Given the description of an element on the screen output the (x, y) to click on. 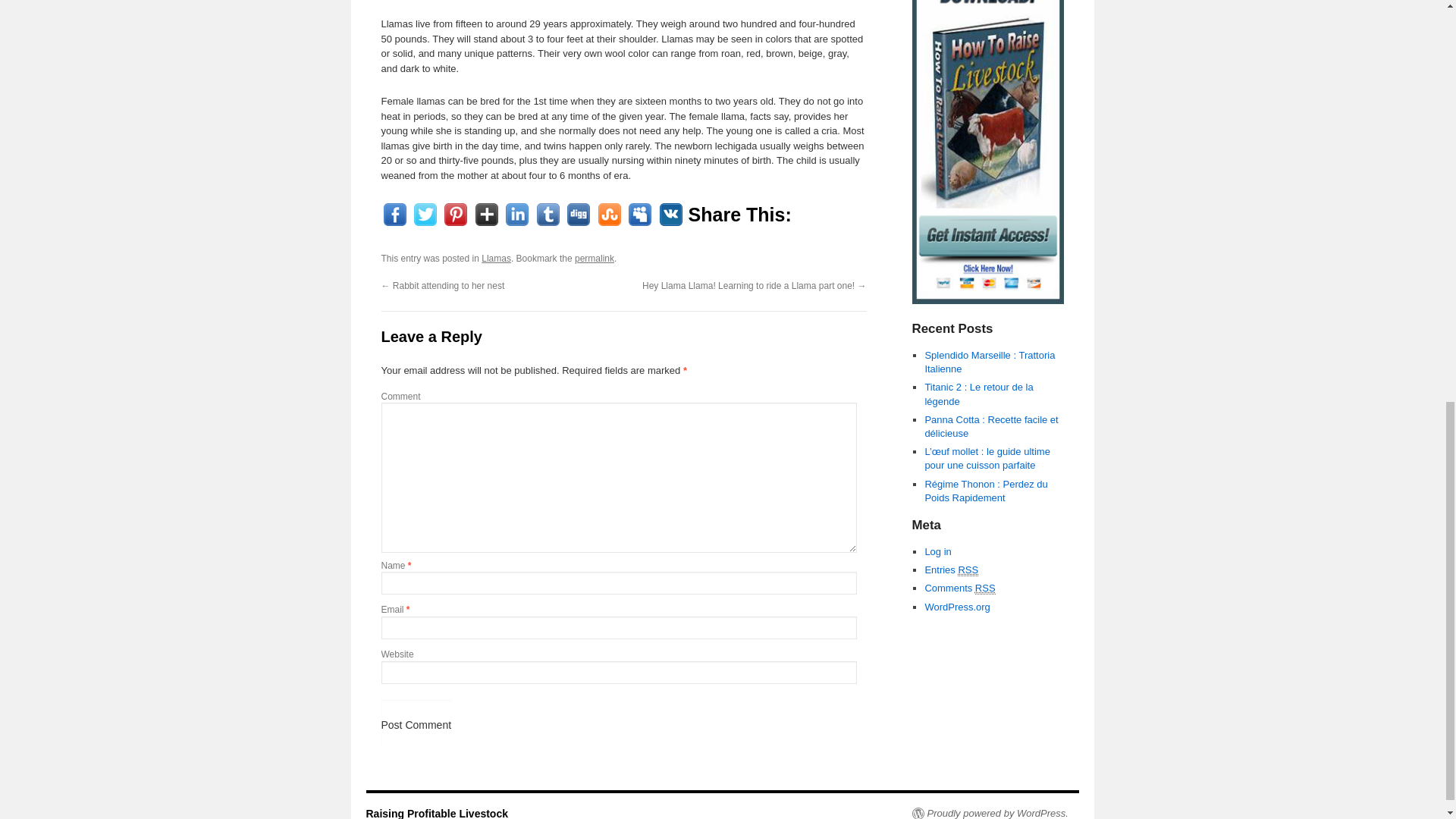
Really Simple Syndication (985, 588)
Permalink to Watertown Llamas crias  july 2015 (594, 258)
Llamas (496, 258)
Really Simple Syndication (968, 570)
Post Comment (415, 725)
